Given the description of an element on the screen output the (x, y) to click on. 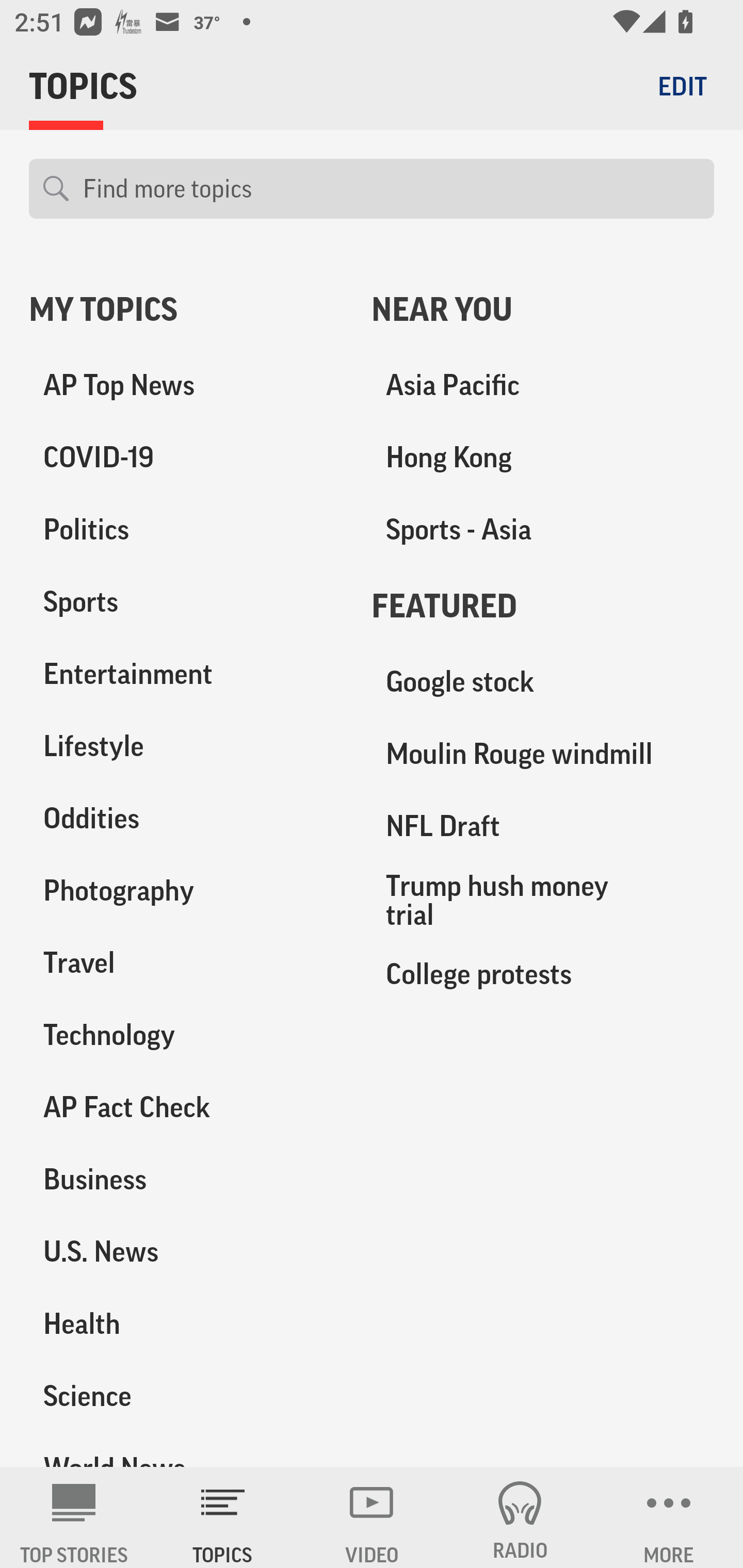
EDIT (682, 86)
Find more topics (391, 188)
AP Top News (185, 385)
Asia Pacific (542, 385)
COVID-19 (185, 457)
Hong Kong (542, 457)
Politics (185, 529)
Sports - Asia (542, 529)
Sports (185, 602)
Entertainment (185, 674)
Google stock (542, 682)
Lifestyle (185, 746)
Moulin Rouge windmill (542, 754)
Oddities (185, 818)
NFL Draft (542, 826)
Photography (185, 890)
Trump hush money trial (542, 899)
Travel (185, 962)
College protests (542, 973)
Technology (185, 1034)
AP Fact Check (185, 1106)
Business (185, 1179)
U.S. News (185, 1251)
Health (185, 1323)
Science (185, 1395)
AP News TOP STORIES (74, 1517)
TOPICS (222, 1517)
VIDEO (371, 1517)
RADIO (519, 1517)
MORE (668, 1517)
